Given the description of an element on the screen output the (x, y) to click on. 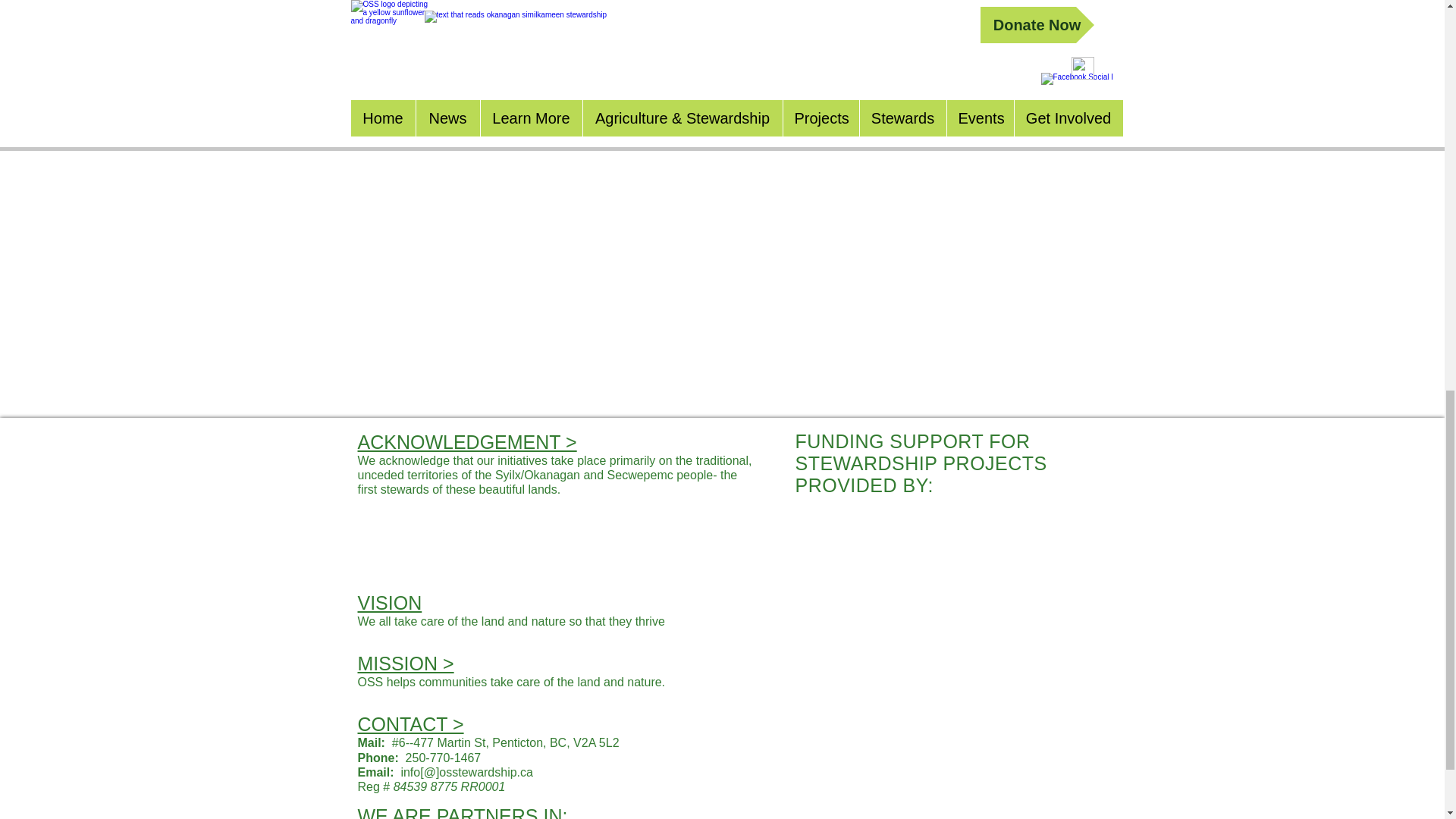
VISION (390, 602)
